Given the description of an element on the screen output the (x, y) to click on. 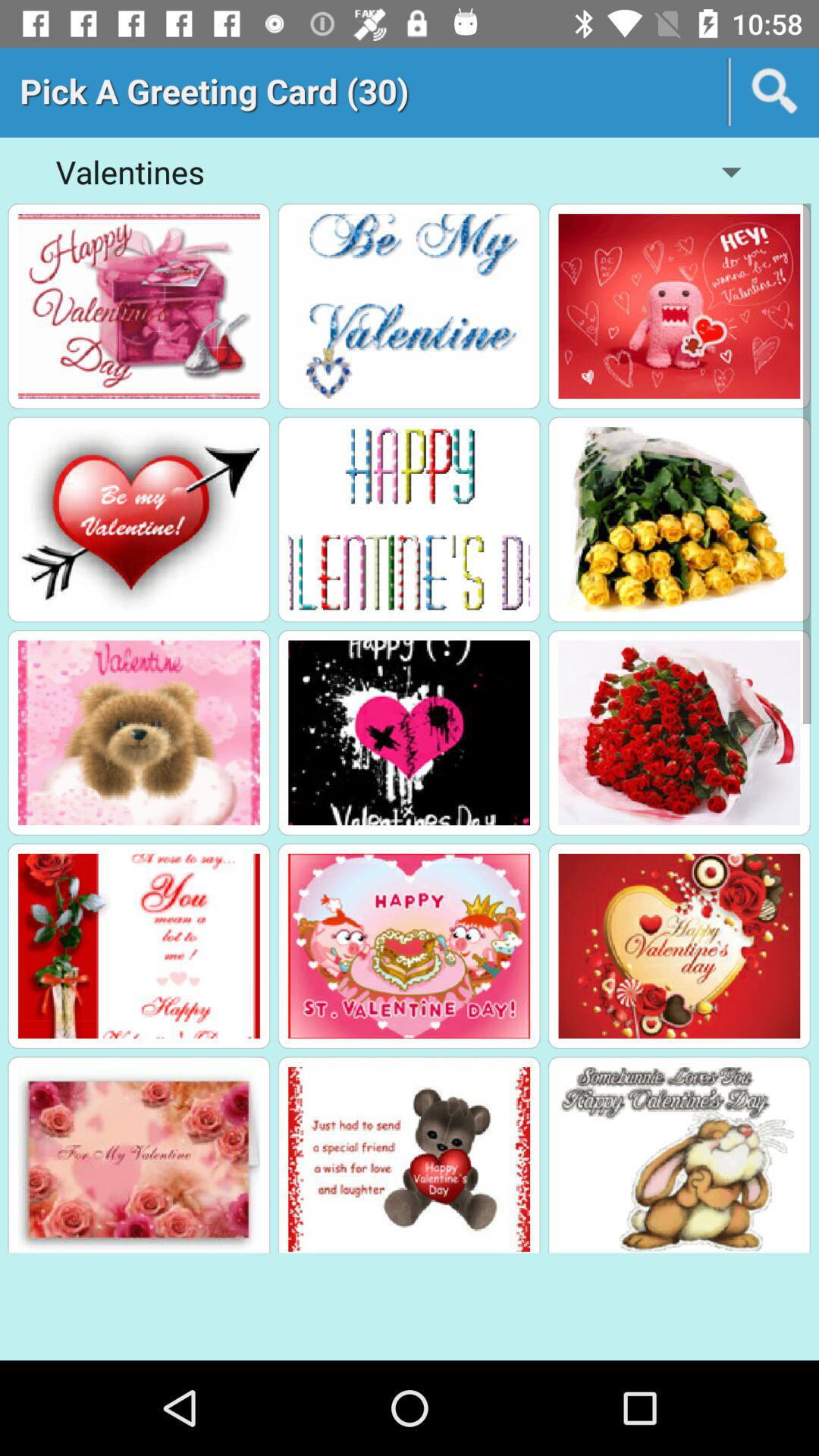
open picture (138, 945)
